Given the description of an element on the screen output the (x, y) to click on. 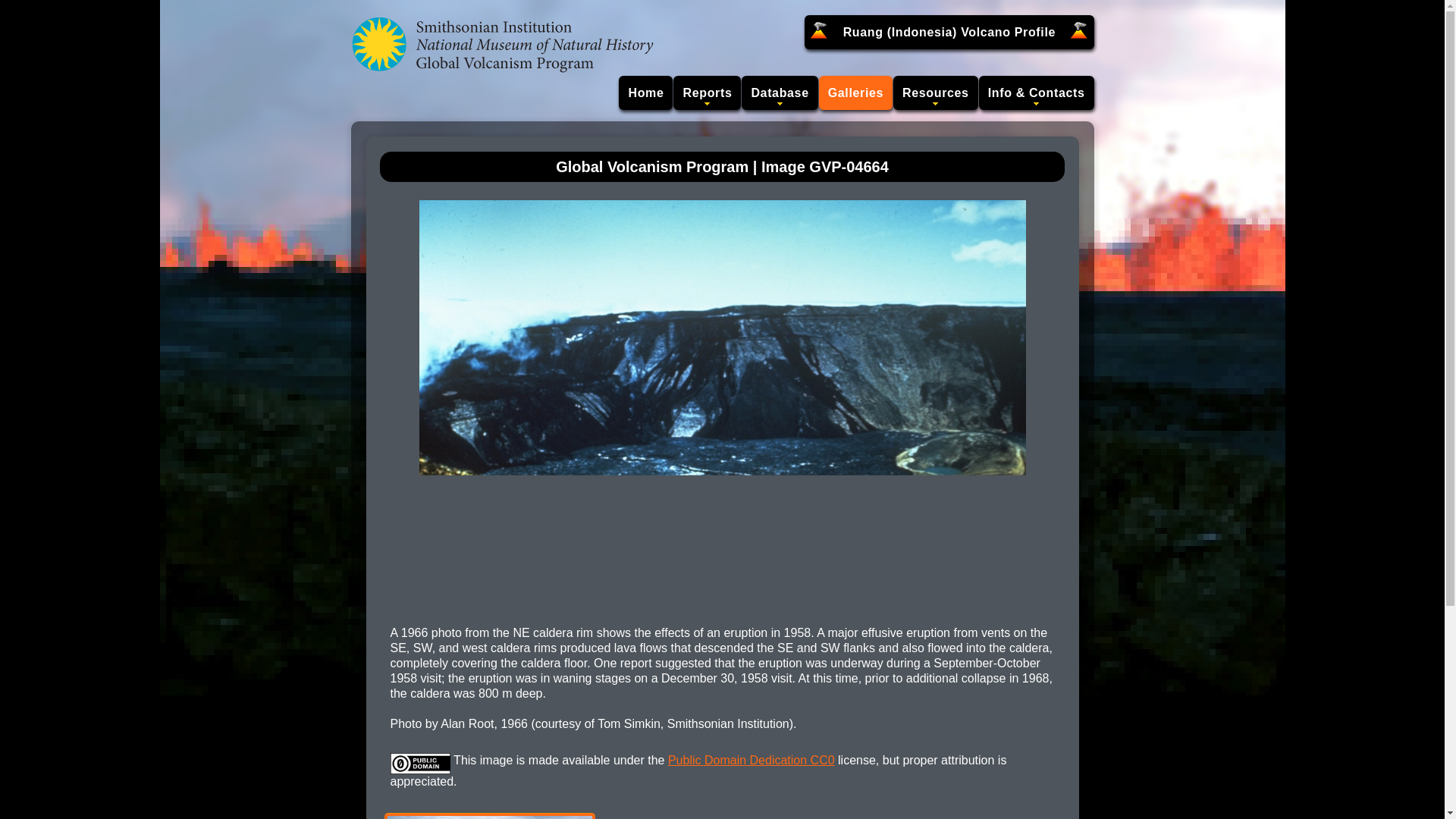
Database (778, 92)
Fernandina (489, 817)
Public Domain Dedication CC0 (751, 759)
Home (645, 92)
Resources (935, 92)
Reports (706, 92)
Galleries (855, 92)
